Given the description of an element on the screen output the (x, y) to click on. 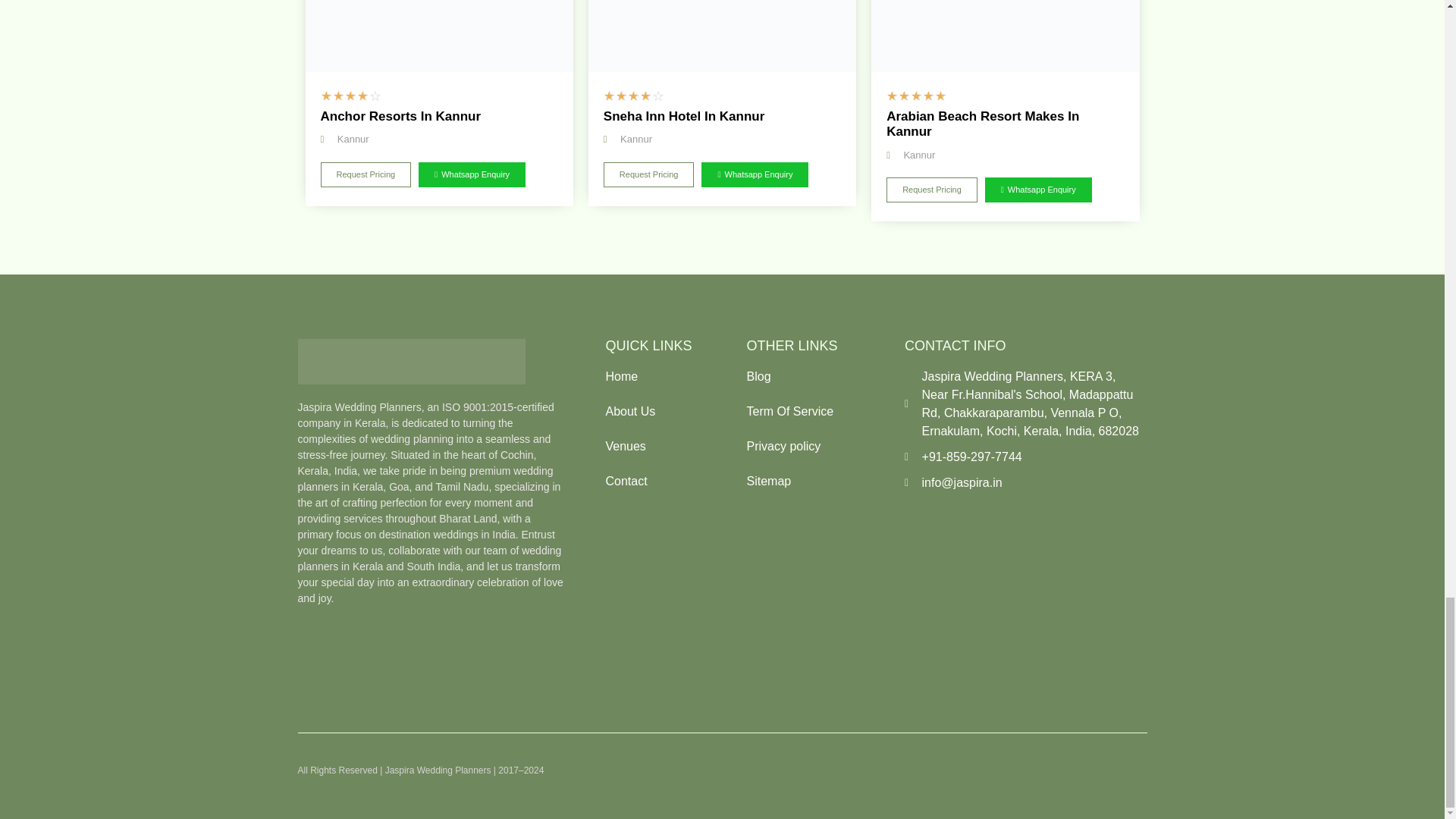
Arabian Beach Resort Makes W (1004, 36)
Sneha Inn, Kannur W (722, 36)
Anchor Resorts In Kannur (438, 36)
